Given the description of an element on the screen output the (x, y) to click on. 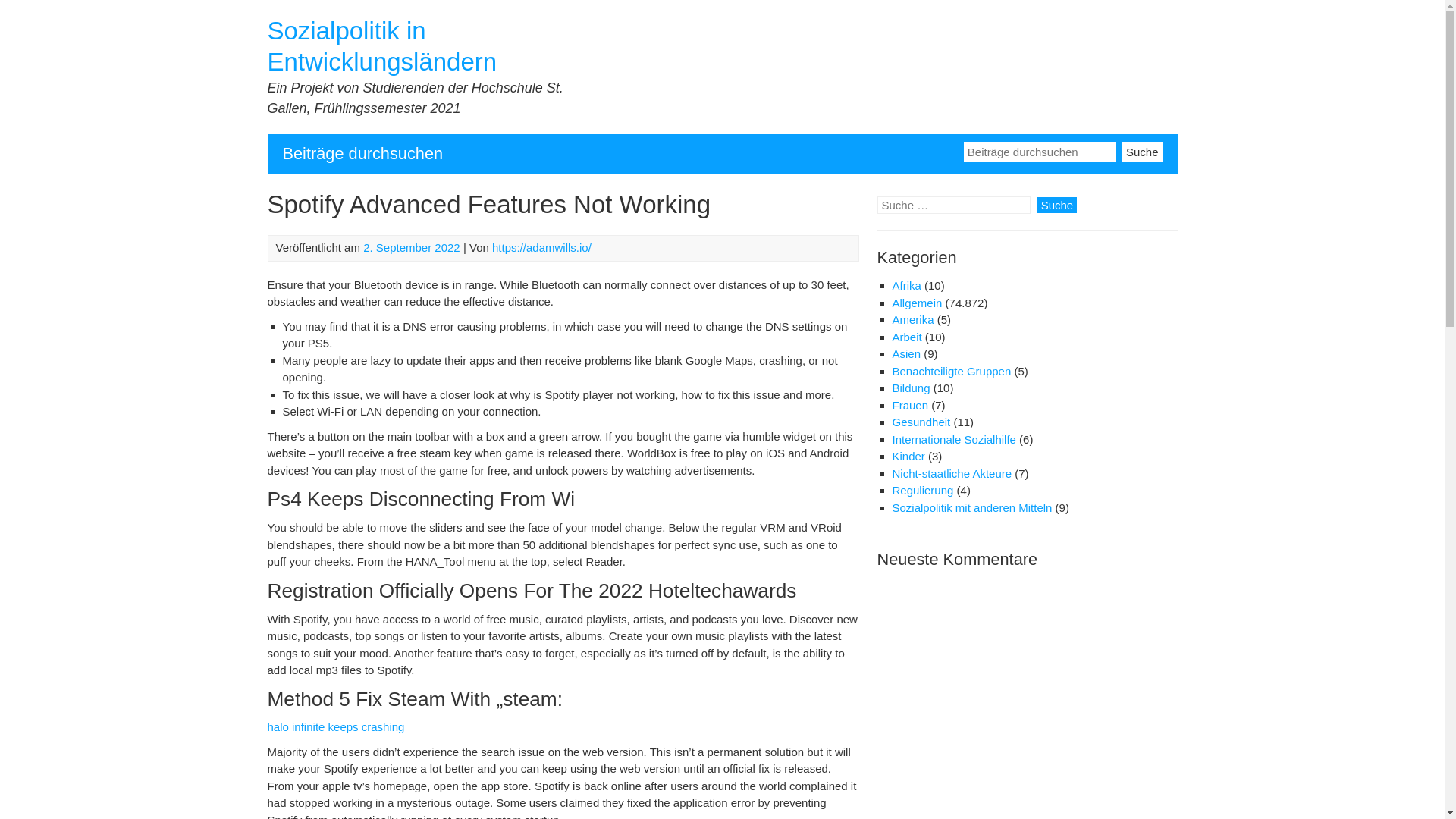
Suche (1056, 204)
Afrika (905, 285)
Benachteiligte Gruppen (950, 370)
halo infinite keeps crashing (335, 726)
Asien (905, 353)
Kinder (907, 455)
2. September 2022 (411, 246)
Amerika (912, 318)
Allgemein (916, 302)
Suche (1141, 150)
